Given the description of an element on the screen output the (x, y) to click on. 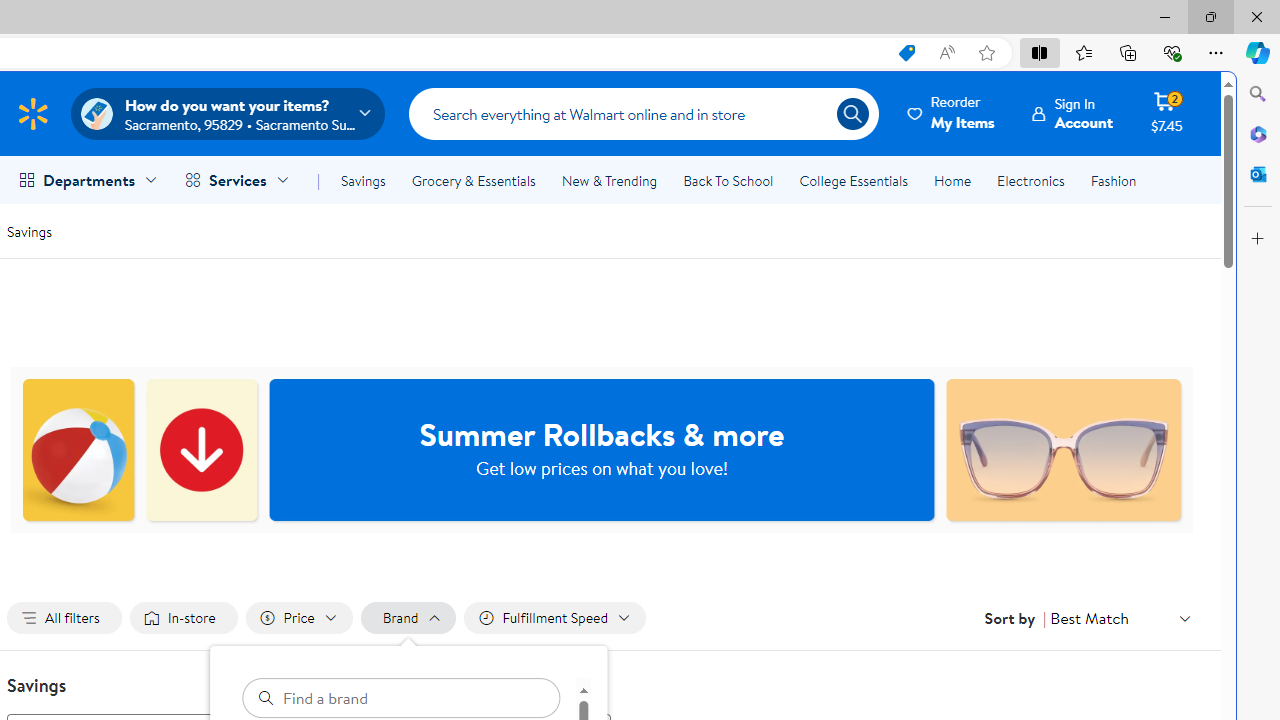
Sign InAccount (1072, 113)
ReorderMy Items (952, 113)
New & Trending (608, 180)
Filter by In-store (183, 618)
Back To School (728, 180)
Fashion (1113, 180)
Close Outlook pane (1258, 174)
Reorder My Items (952, 113)
Grocery & Essentials (473, 180)
